Given the description of an element on the screen output the (x, y) to click on. 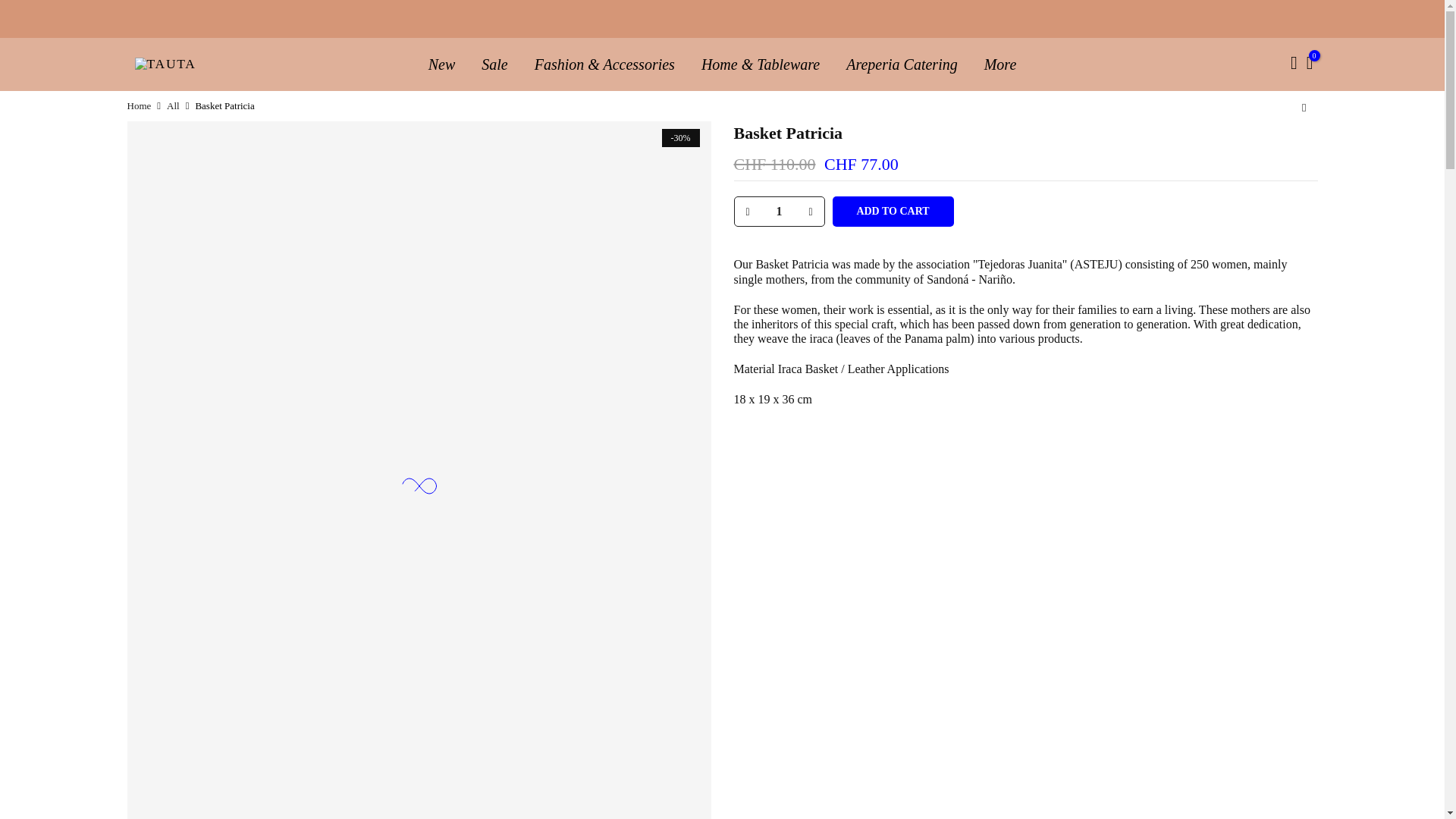
Sale (494, 63)
ADD TO CART (892, 211)
Areperia Catering (901, 63)
More (1000, 63)
1 (778, 211)
All (173, 106)
Home (139, 106)
New (441, 63)
